Given the description of an element on the screen output the (x, y) to click on. 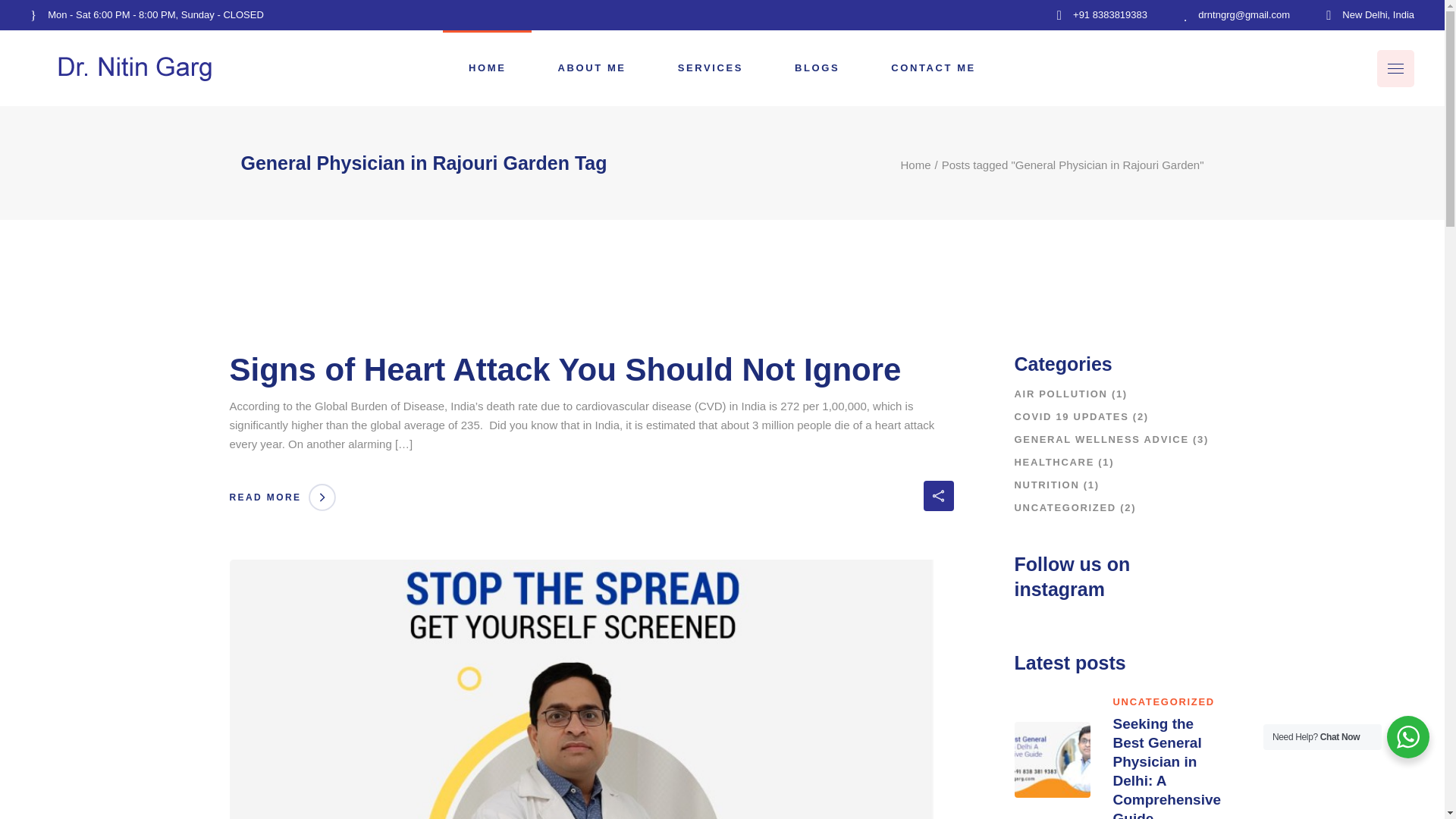
Home (914, 164)
SERVICES (710, 68)
ABOUT ME (592, 68)
READ MORE (282, 497)
CONTACT ME (932, 68)
Our Location (1100, 576)
BLOGS (816, 68)
Signs of Heart Attack You Should Not Ignore (564, 369)
HOME (486, 68)
New Delhi, India (1369, 14)
